Given the description of an element on the screen output the (x, y) to click on. 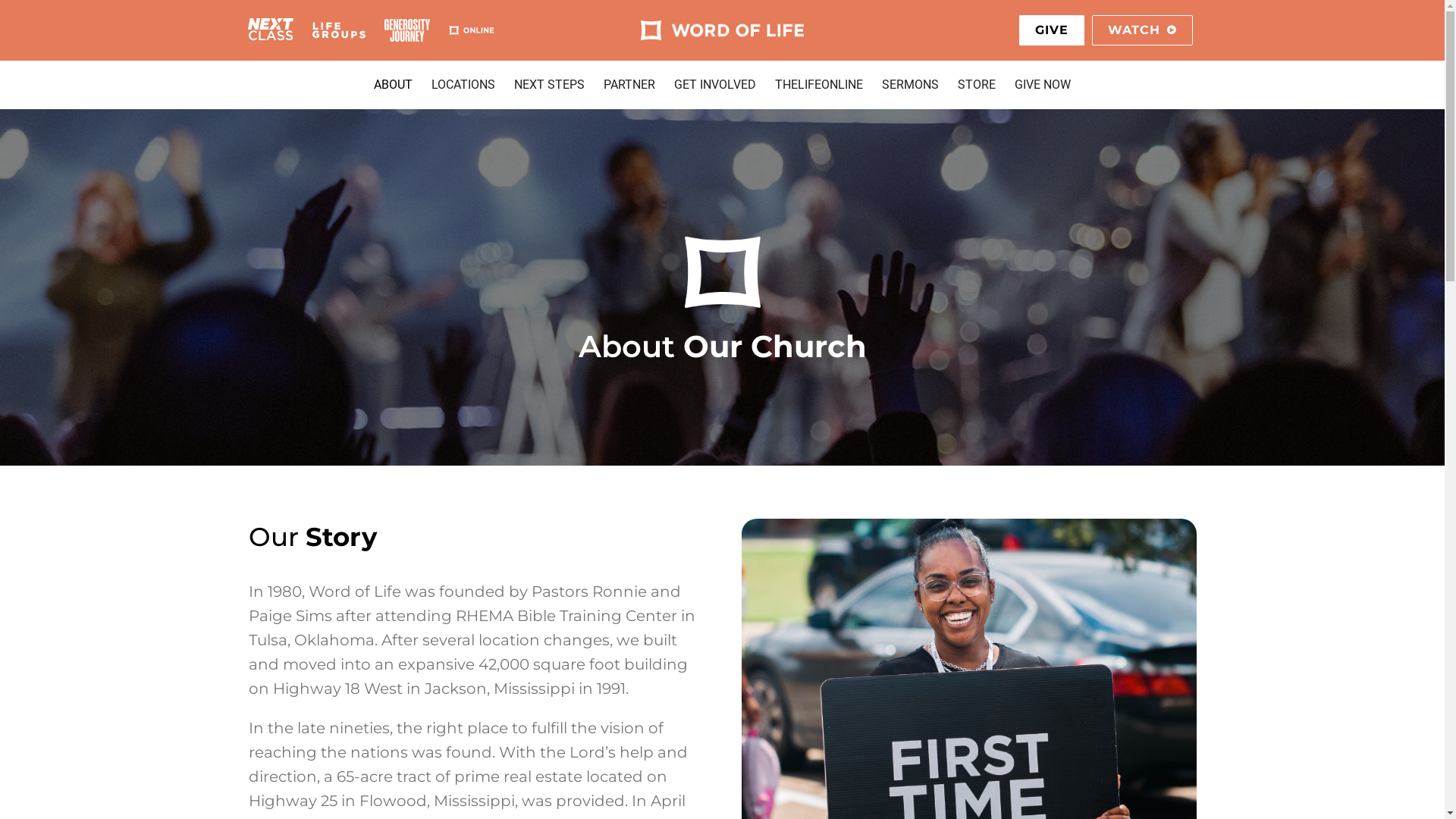
WATCH Element type: text (1142, 30)
STORE Element type: text (976, 84)
THELIFEONLINE Element type: text (818, 84)
GIVE NOW Element type: text (1042, 84)
GET INVOLVED Element type: text (715, 84)
PARTNER Element type: text (629, 84)
LOCATIONS Element type: text (463, 84)
ABOUT Element type: text (392, 84)
logo-wide Element type: hover (721, 272)
NEXT STEPS Element type: text (549, 84)
SERMONS Element type: text (909, 84)
GIVE Element type: text (1051, 30)
